Given the description of an element on the screen output the (x, y) to click on. 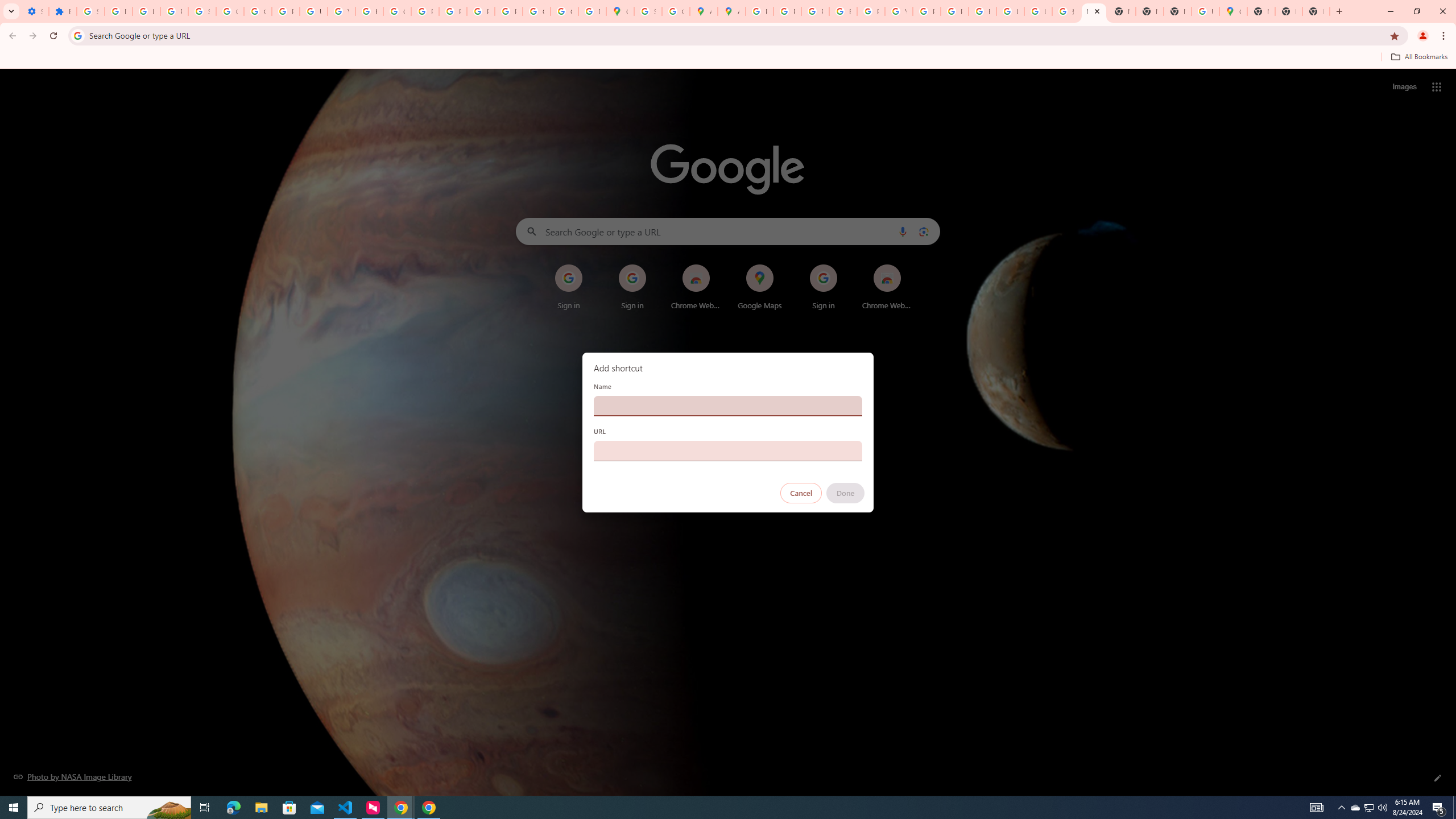
Done (845, 493)
New Tab (1260, 11)
Privacy Help Center - Policies Help (787, 11)
Settings - On startup (34, 11)
Google Maps (1233, 11)
Delete photos & videos - Computer - Google Photos Help (118, 11)
YouTube (341, 11)
New Tab (1288, 11)
